Given the description of an element on the screen output the (x, y) to click on. 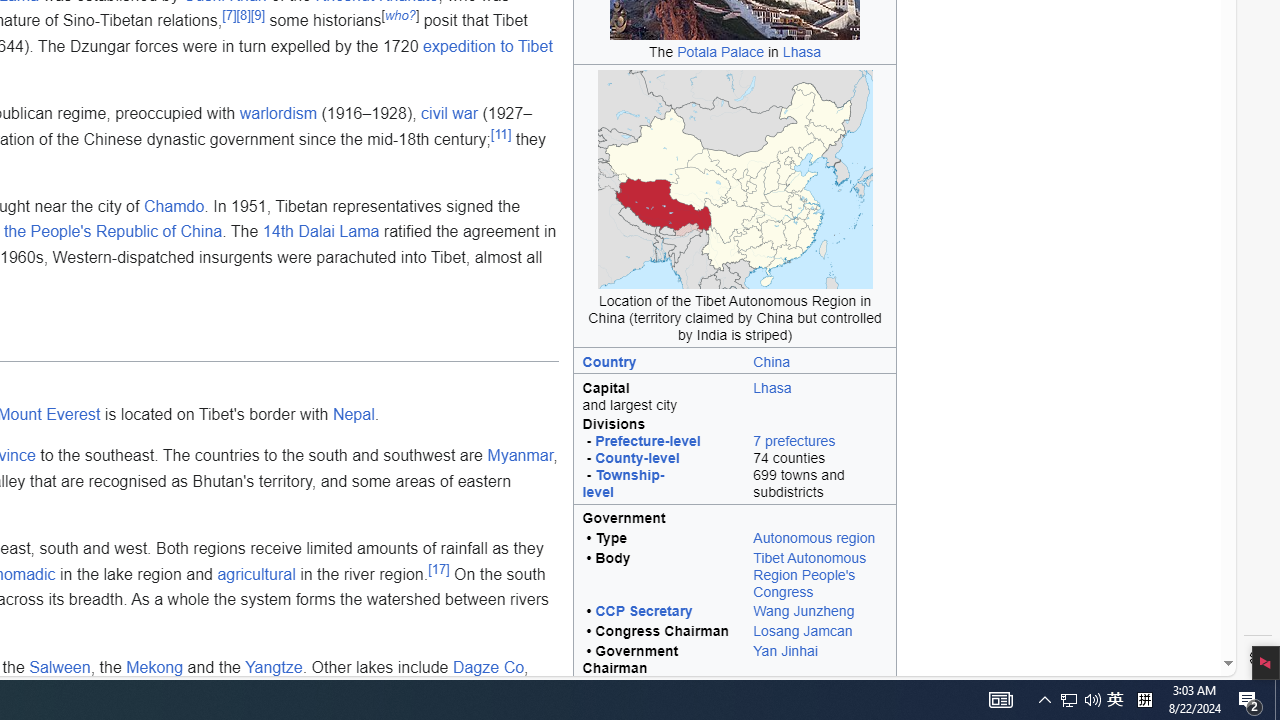
Mekong (154, 667)
Myanmar (520, 456)
Losang Jamcan (802, 630)
Lhasa (772, 387)
 7 prefectures 74 counties 699 towns and subdistricts (820, 460)
Losang Jamcan (820, 632)
Yangtze (273, 667)
expedition to Tibet (487, 45)
China (771, 361)
Tibet Autonomous Region People's Congress (809, 573)
Country (658, 360)
County-level (637, 458)
Chamdo (173, 206)
civil war (449, 114)
